Given the description of an element on the screen output the (x, y) to click on. 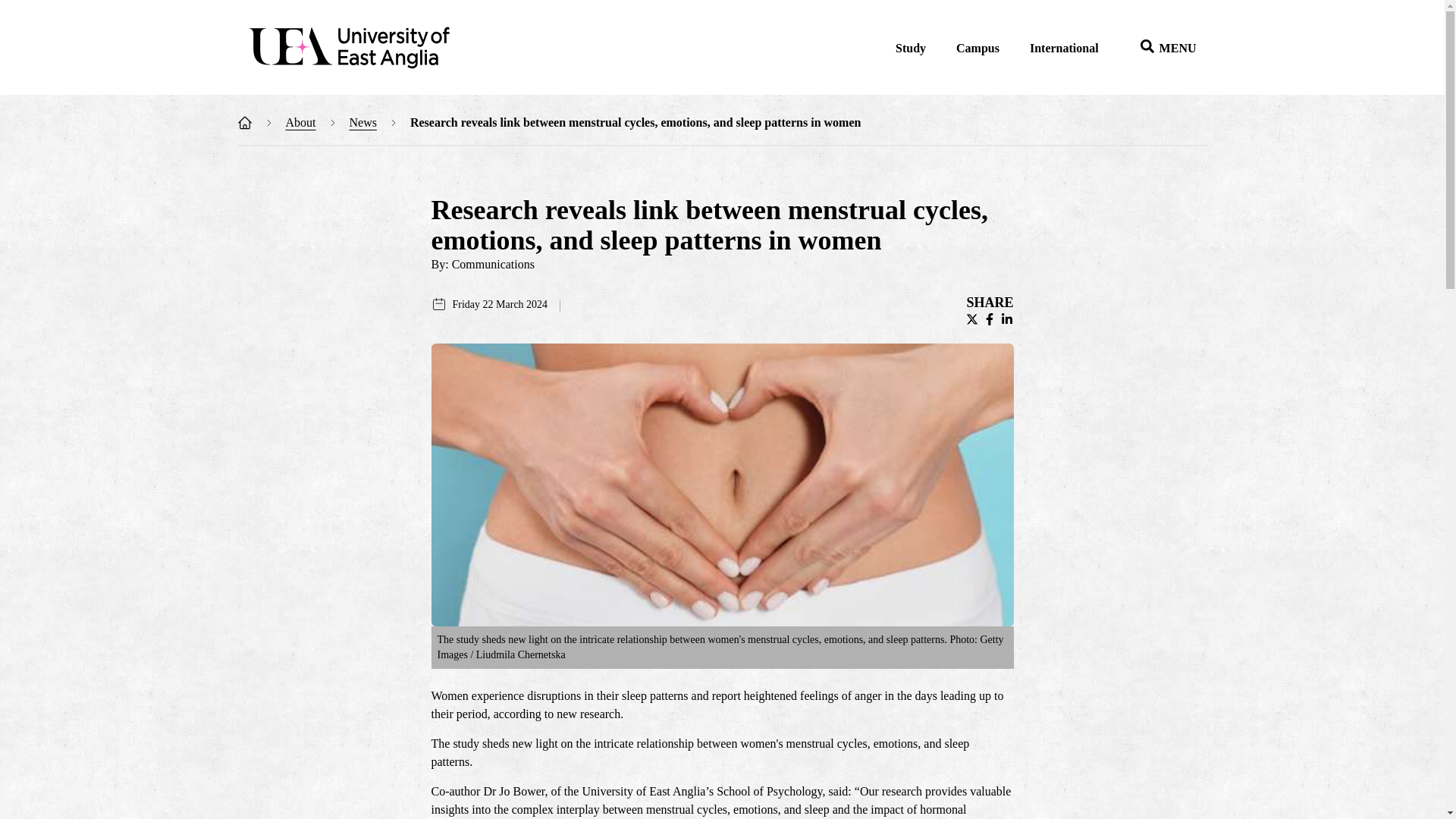
International (1064, 47)
Campus (977, 47)
Go to University of East Anglia (350, 48)
Study (910, 47)
MENU (1162, 48)
Open Menu (1162, 48)
